Given the description of an element on the screen output the (x, y) to click on. 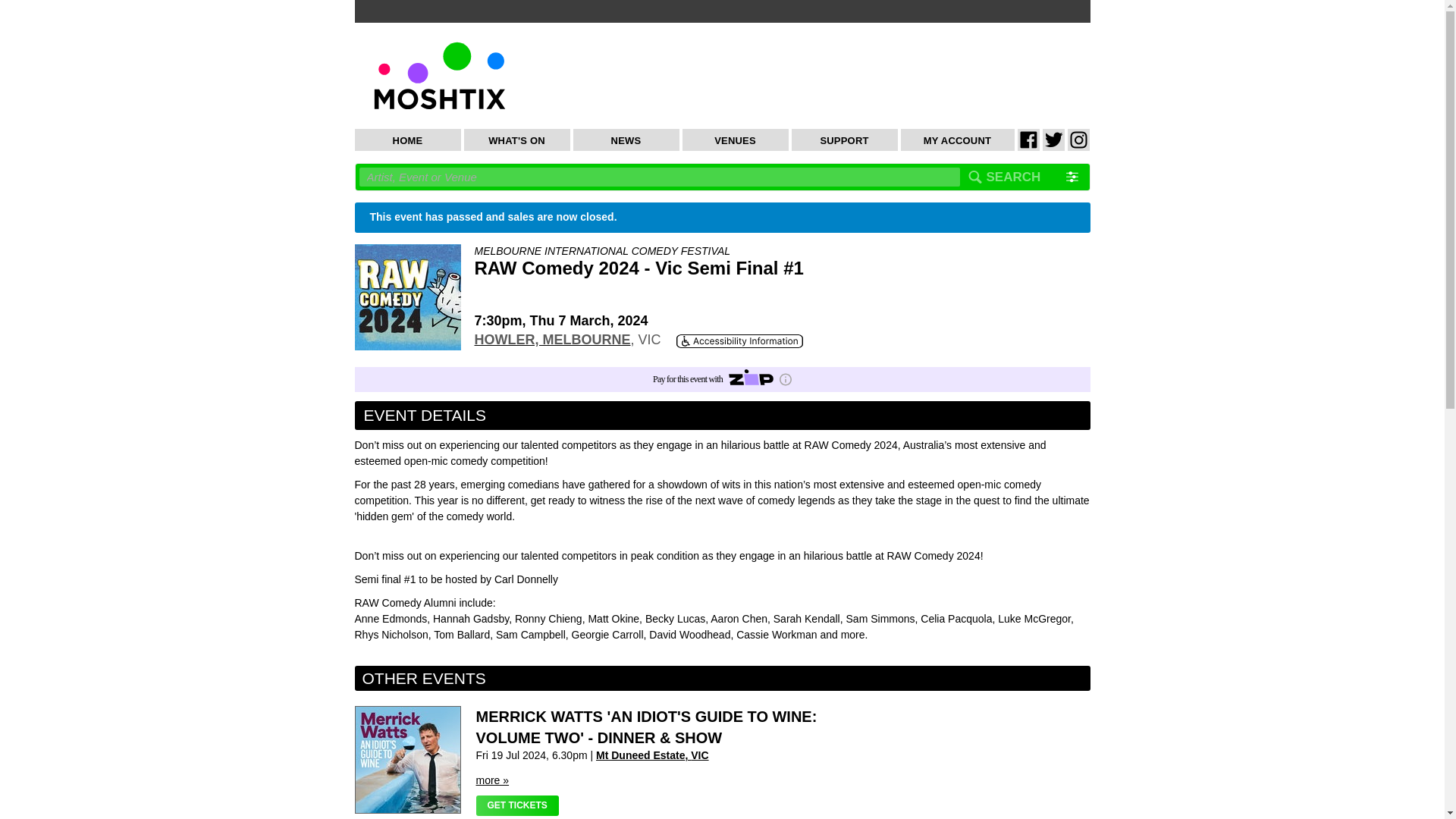
MY ACCOUNT (957, 139)
WHAT'S ON (517, 139)
SEARCH (1013, 177)
HOME (408, 139)
NEWS (626, 139)
HOWLER, MELBOURNE (552, 339)
GET TICKETS (517, 805)
VENUES (735, 139)
SUPPORT (845, 139)
Mt Duneed Estate, VIC (652, 755)
